Given the description of an element on the screen output the (x, y) to click on. 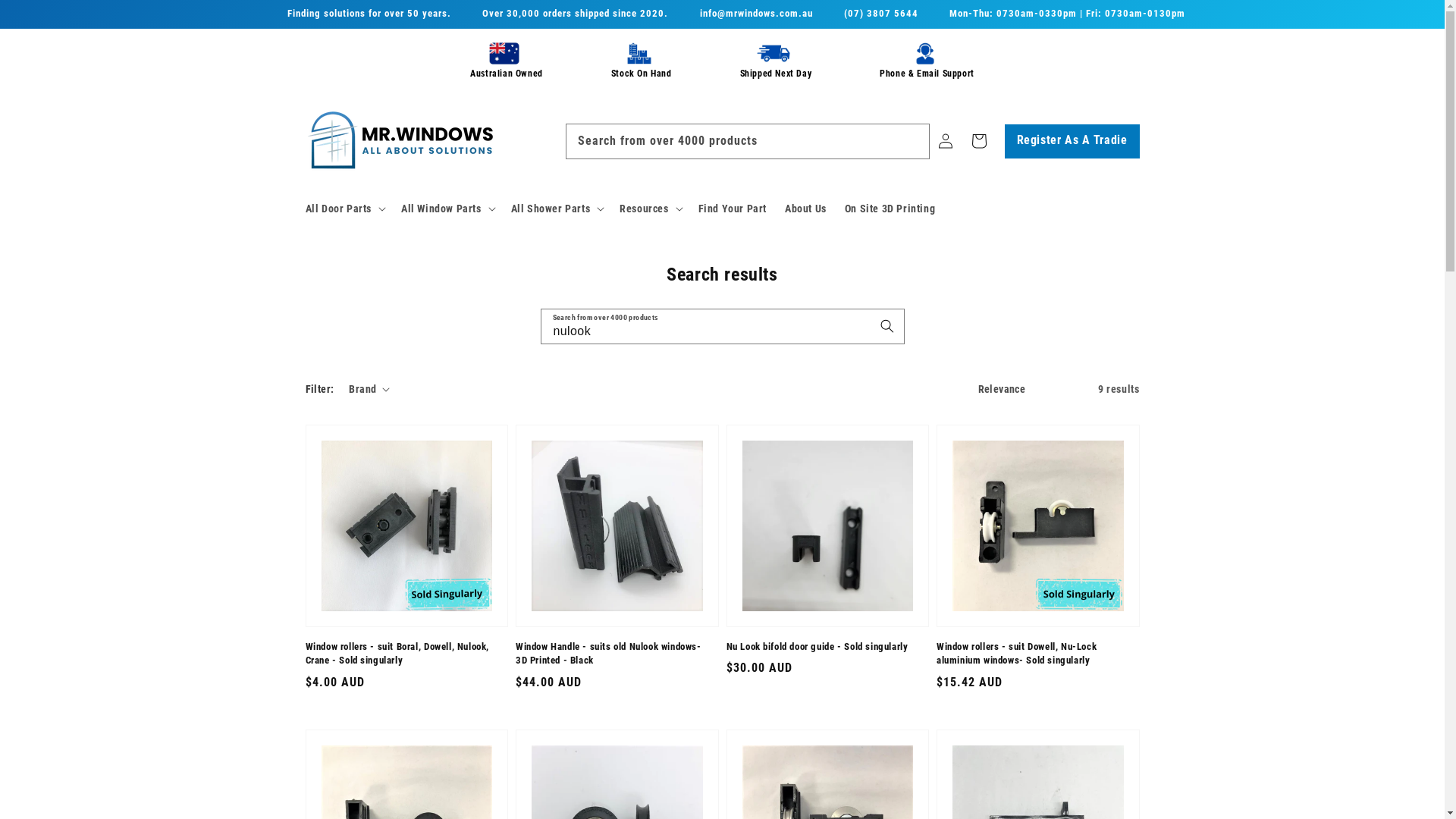
Cart Element type: text (977, 140)
Finding solutions for over 50 years. Element type: text (369, 12)
info@mrwindows.com.au Element type: text (755, 12)
(07) 3807 5644 Element type: text (881, 12)
Register As A Tradie Element type: text (1071, 141)
About Us Element type: text (805, 208)
Australia Owned Element type: hover (504, 53)
Window Handle - suits old Nulook windows- 3D Printed - Black Element type: text (612, 653)
stock on hand Element type: hover (639, 53)
Log in Element type: text (944, 140)
Over 30,000 orders shipped since 2020. Element type: text (575, 12)
Mon-Thu: 0730am-0330pm | Fri: 0730am-0130pm Element type: text (1067, 12)
Find Your Part Element type: text (732, 208)
On Site 3D Printing Element type: text (889, 208)
customer support Element type: hover (925, 53)
Nu Look bifold door guide - Sold singularly Element type: text (823, 646)
shipped next day Element type: hover (773, 53)
